Given the description of an element on the screen output the (x, y) to click on. 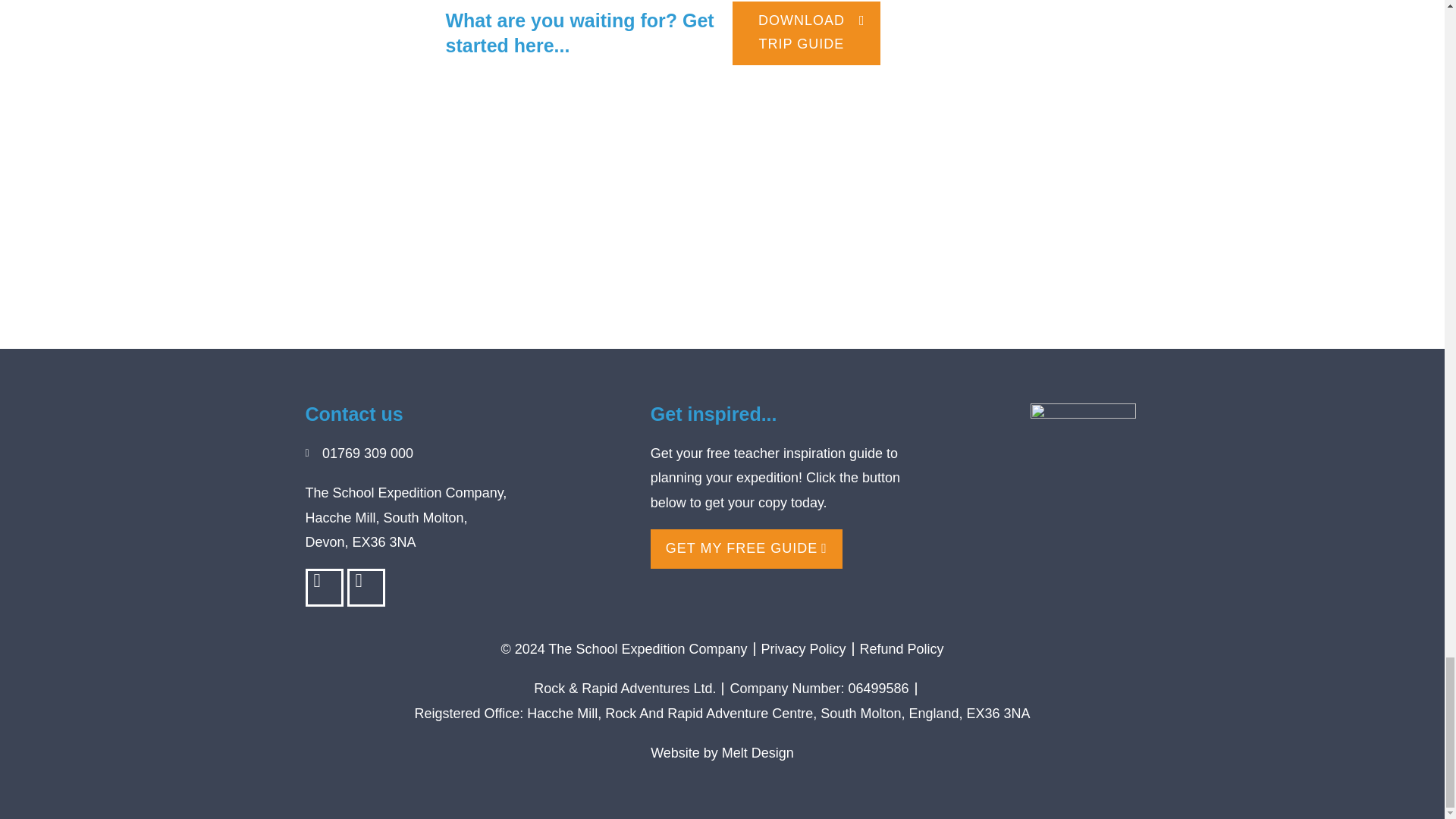
GET MY FREE GUIDE (746, 549)
Company Number: 06499586 (818, 688)
Privacy Policy (803, 648)
Website by Melt Design (721, 752)
DOWNLOAD TRIP GUIDE (806, 32)
Refund Policy (901, 648)
01769 309 000 (469, 453)
